Given the description of an element on the screen output the (x, y) to click on. 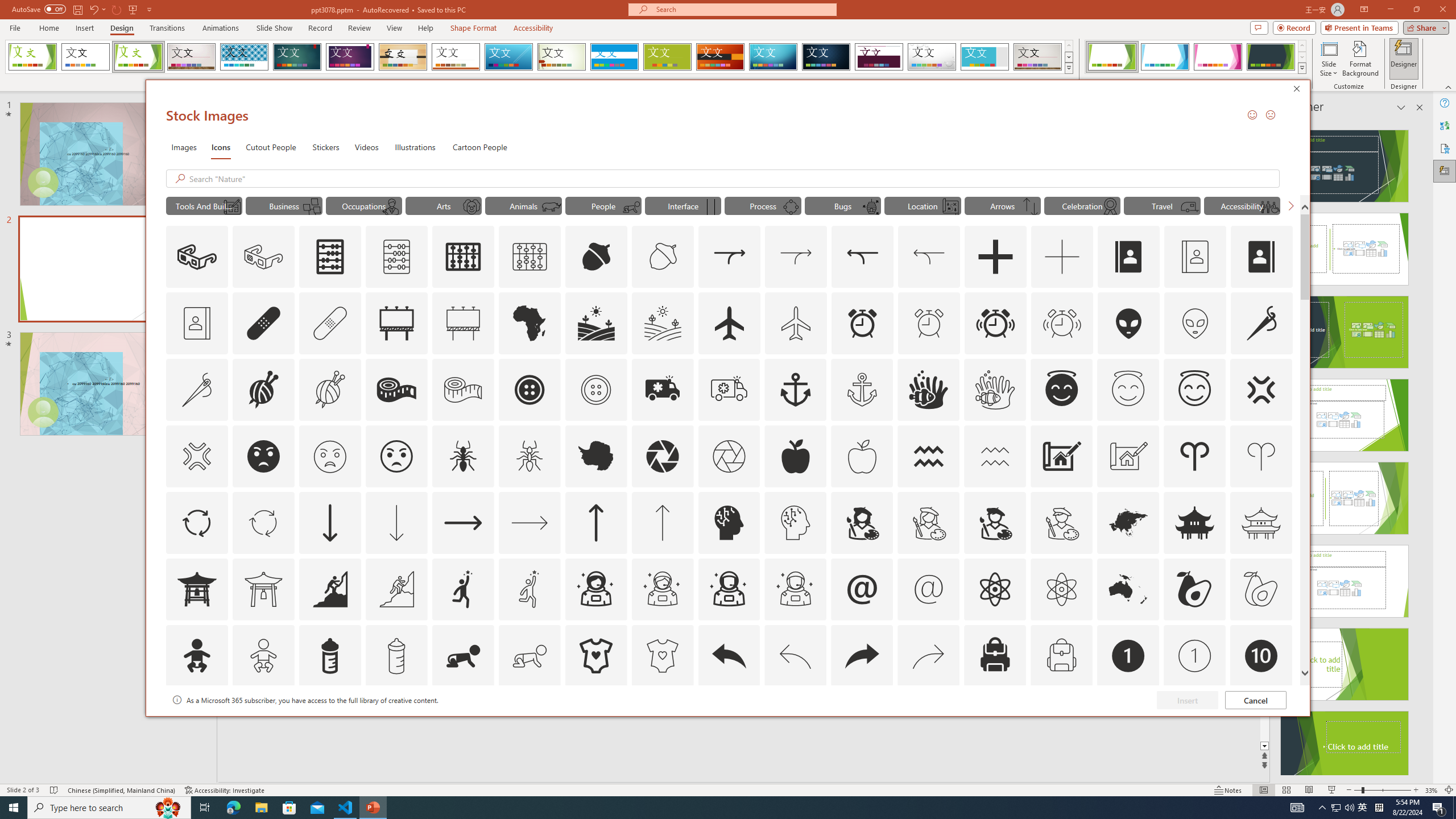
AutomationID: Icons_BabyOnesie (595, 655)
AutomationID: Icons_AdhesiveBandage (263, 323)
AutomationID: Icons_Apple_M (861, 455)
AutomationID: Icons_Antarctica (595, 455)
Format Background (1360, 58)
AutomationID: Icons_ArtistFemale (861, 522)
AutomationID: Icons_At (861, 588)
AutomationID: Icons_AlterationsTailoring1_M (329, 389)
